Given the description of an element on the screen output the (x, y) to click on. 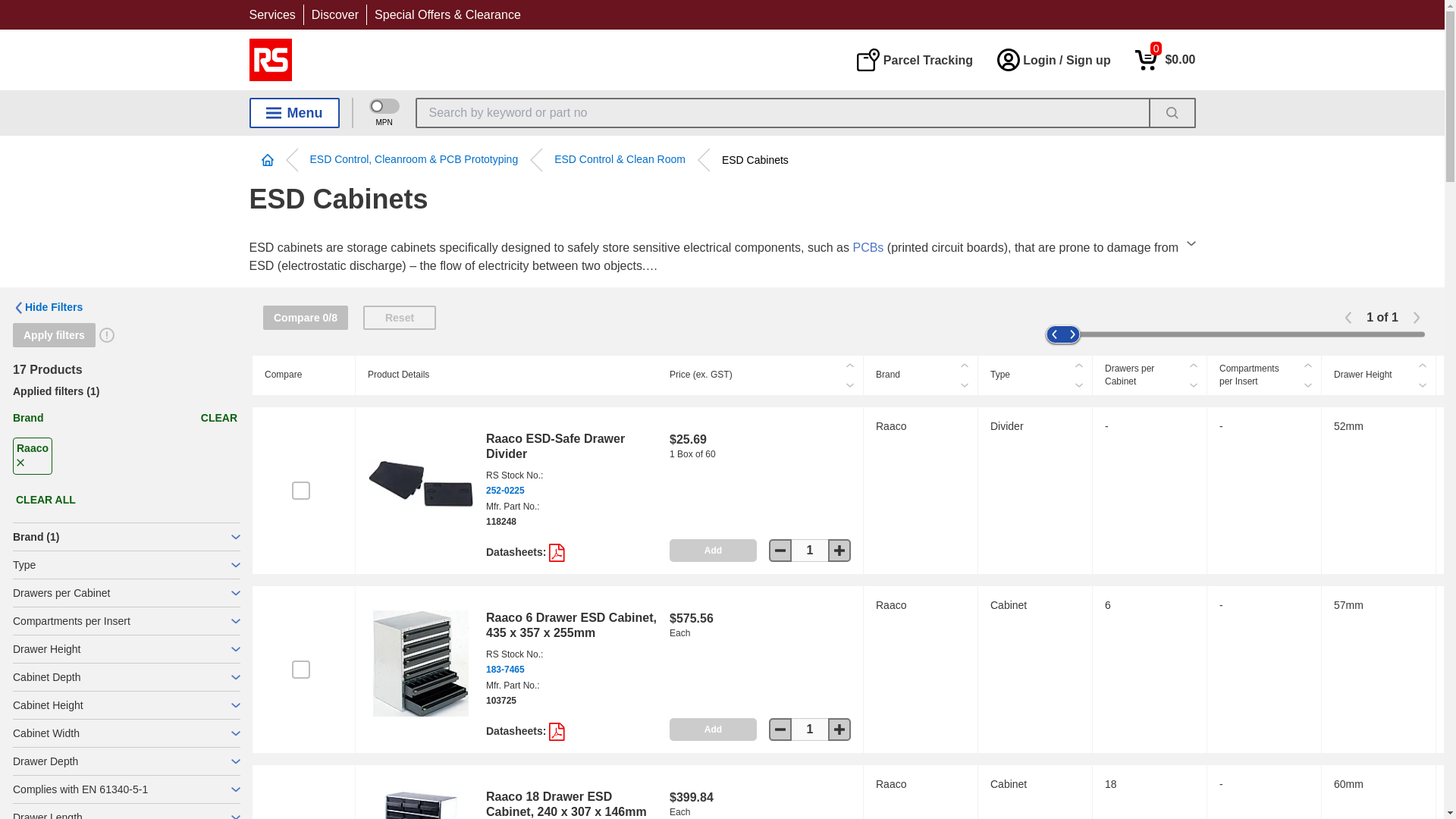
Sort descending (964, 384)
Sort ascending (1078, 365)
Sort descending (1307, 384)
Menu (293, 112)
Sort ascending (850, 365)
Sort descending (1422, 384)
Discover (334, 14)
1 (810, 549)
Sort ascending (1193, 365)
1 (810, 729)
Parcel Tracking (914, 59)
Services (271, 14)
Sort descending (1193, 384)
Sort ascending (1422, 365)
on (299, 490)
